Given the description of an element on the screen output the (x, y) to click on. 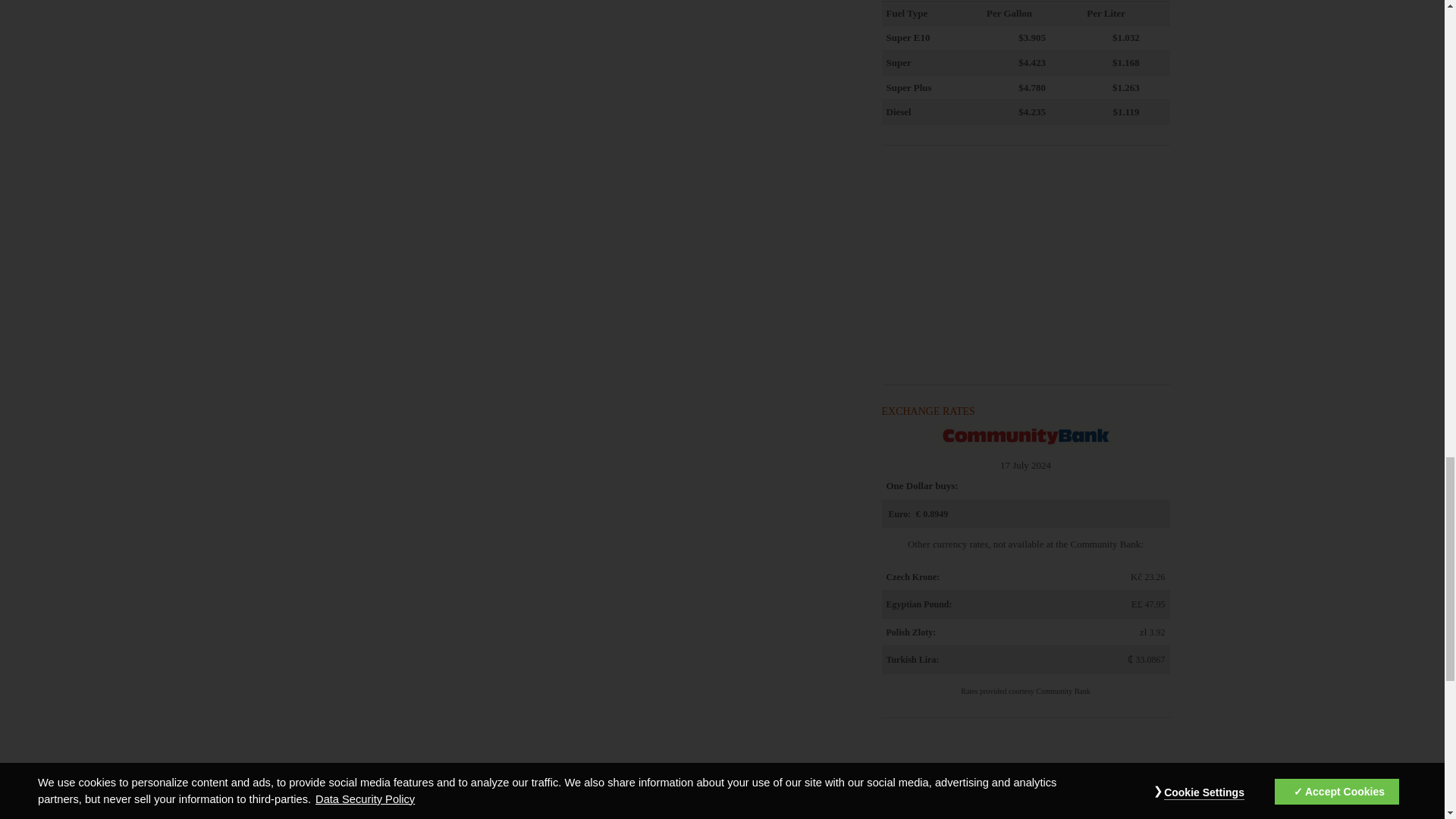
3rd party ad content (1024, 266)
3rd party ad content (1024, 781)
